Given the description of an element on the screen output the (x, y) to click on. 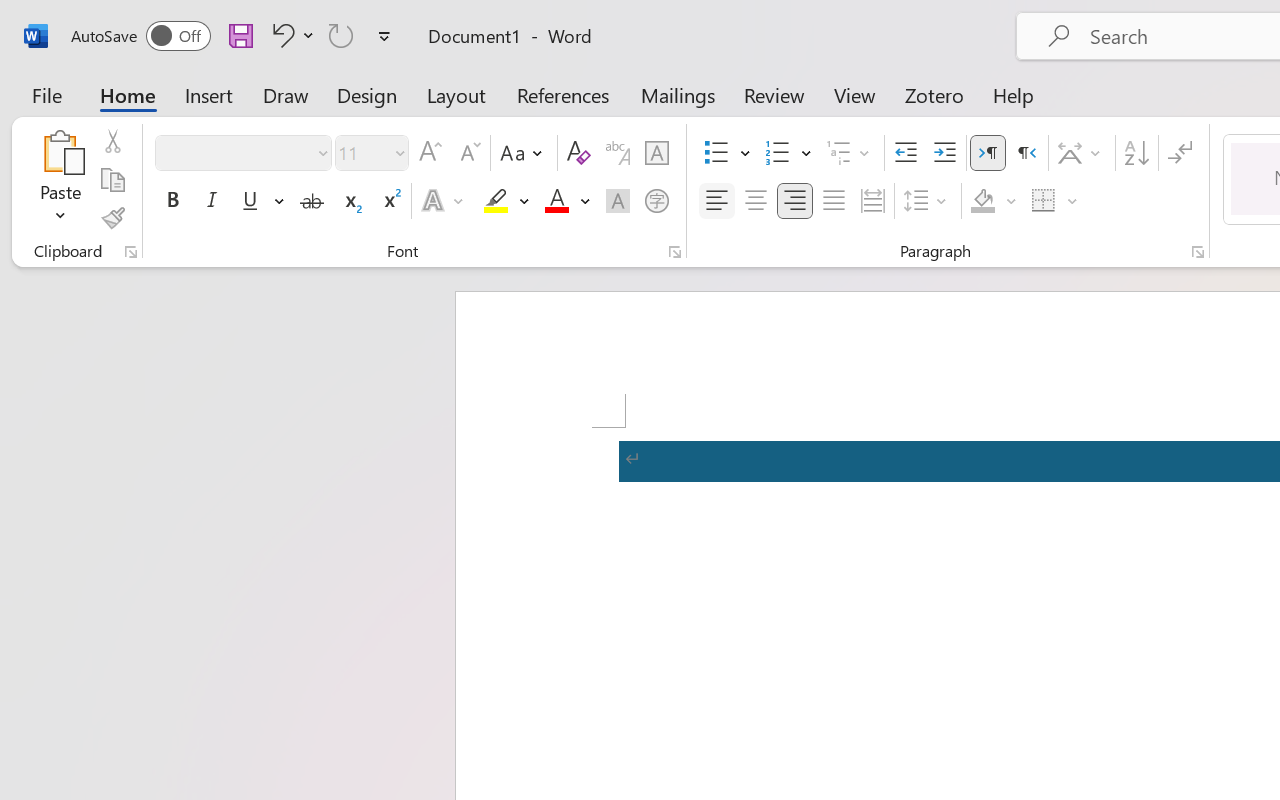
Repeat TCSCTranslate (341, 35)
Right-to-Left (1026, 153)
